Given the description of an element on the screen output the (x, y) to click on. 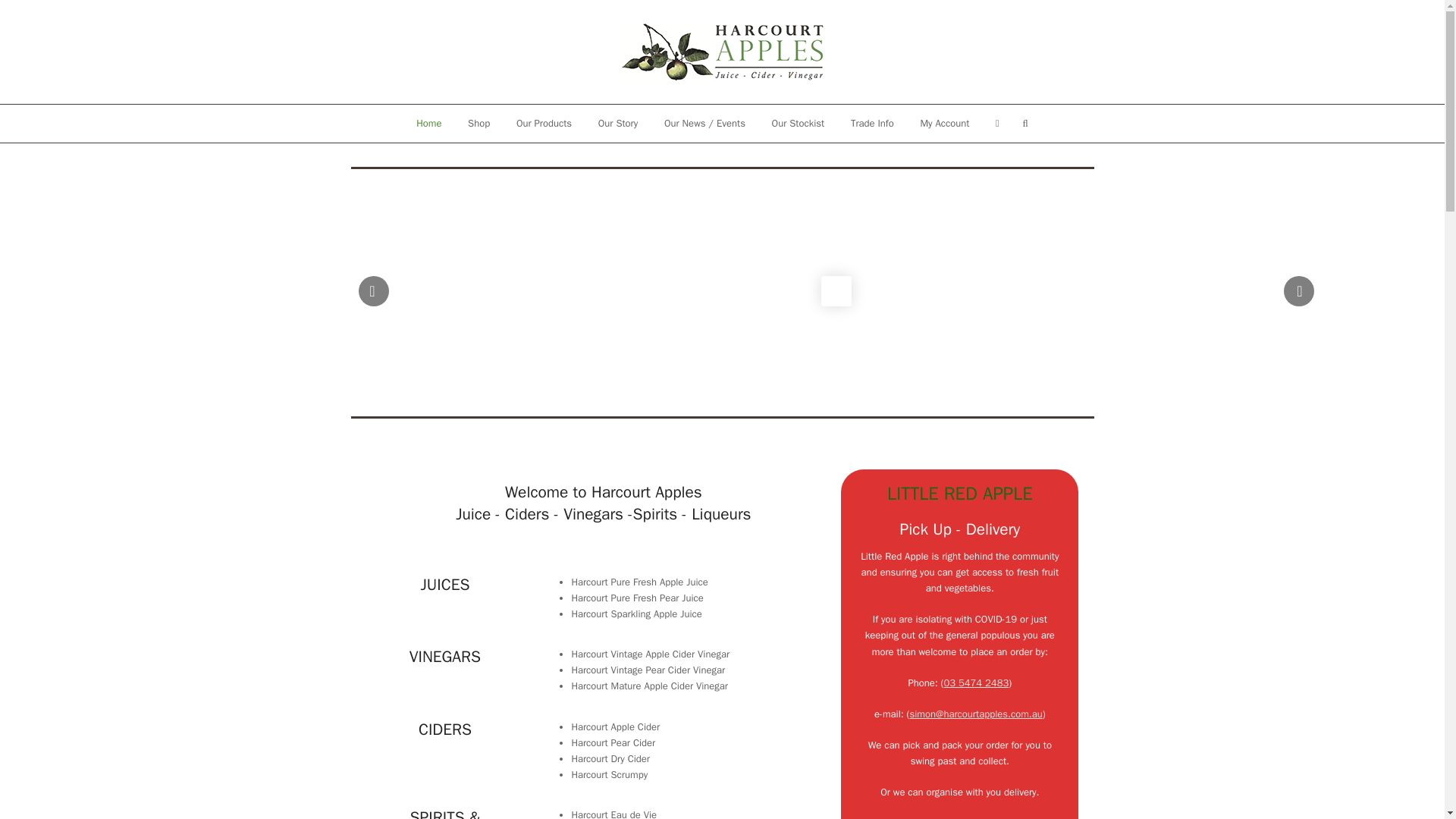
Our Products (543, 123)
Our Story (617, 123)
Home (428, 123)
Our Stockist (797, 123)
Trade Info (871, 123)
Shop (479, 123)
My Account (944, 123)
